Given the description of an element on the screen output the (x, y) to click on. 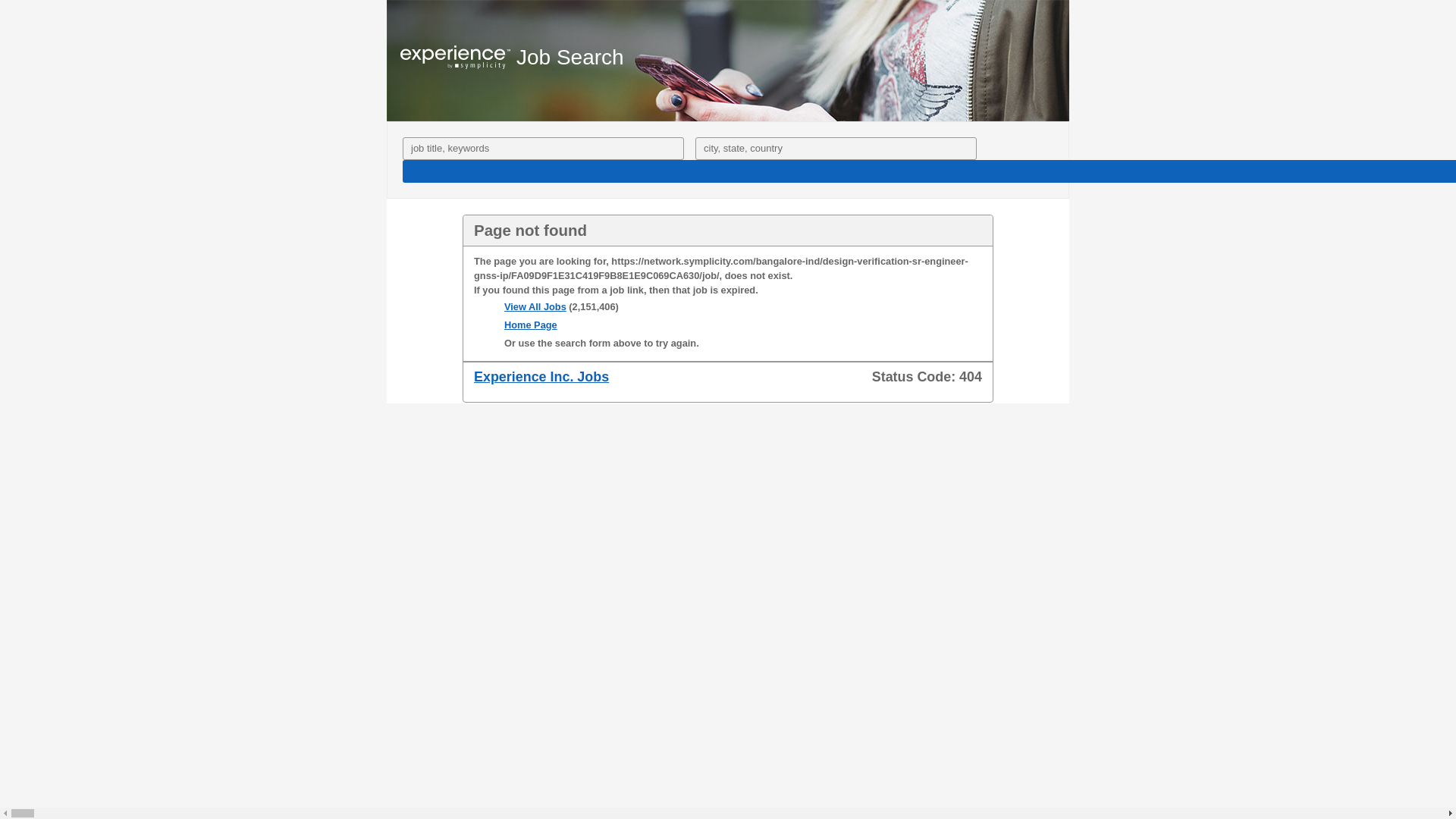
Search Phrase (543, 148)
View All Jobs (534, 306)
Search Location (835, 148)
Experience Inc. Jobs (541, 376)
Home Page (530, 324)
